Given the description of an element on the screen output the (x, y) to click on. 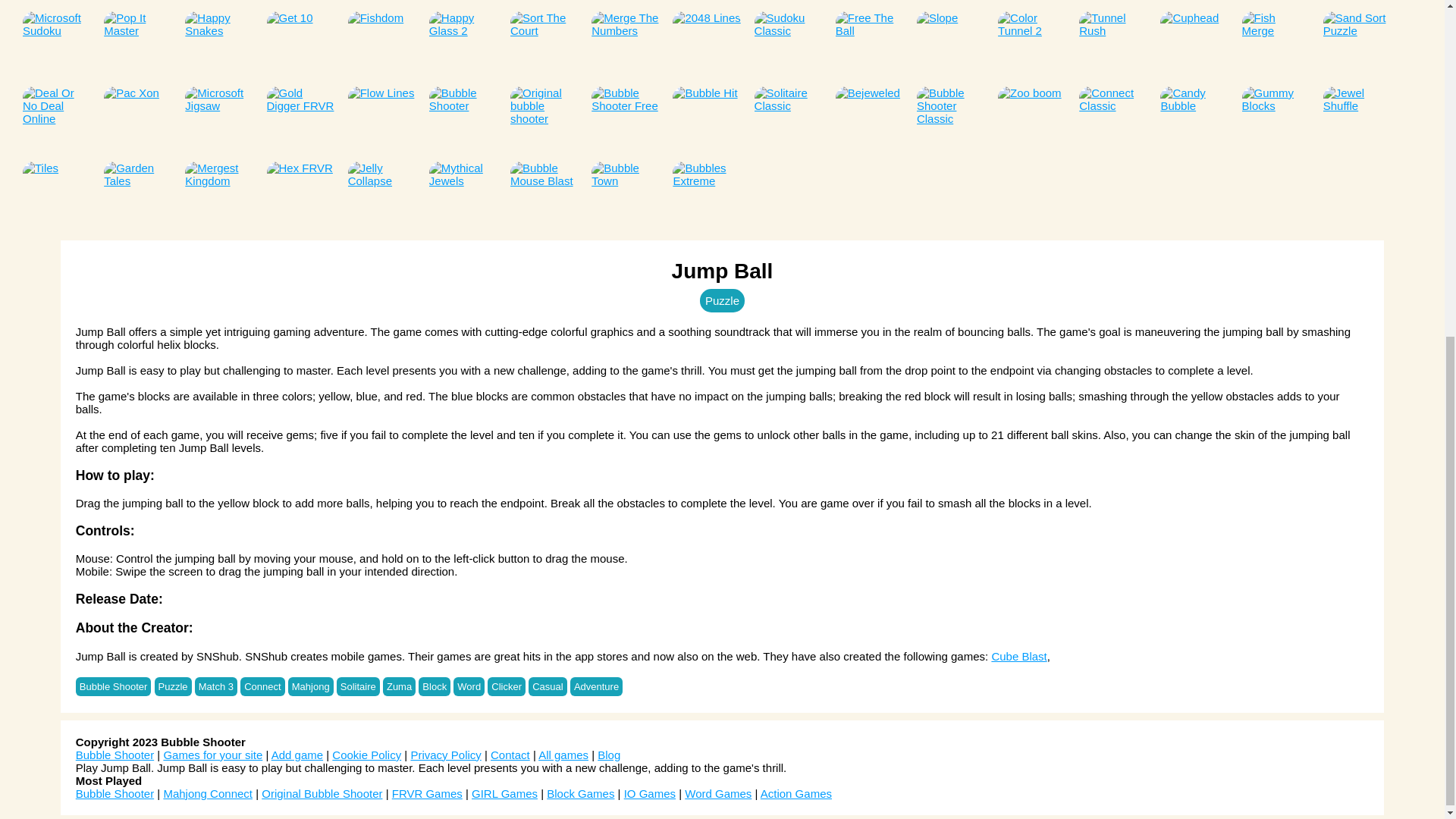
Original Bubble Shooter (56, 2)
Bejeweled (137, 2)
